Given the description of an element on the screen output the (x, y) to click on. 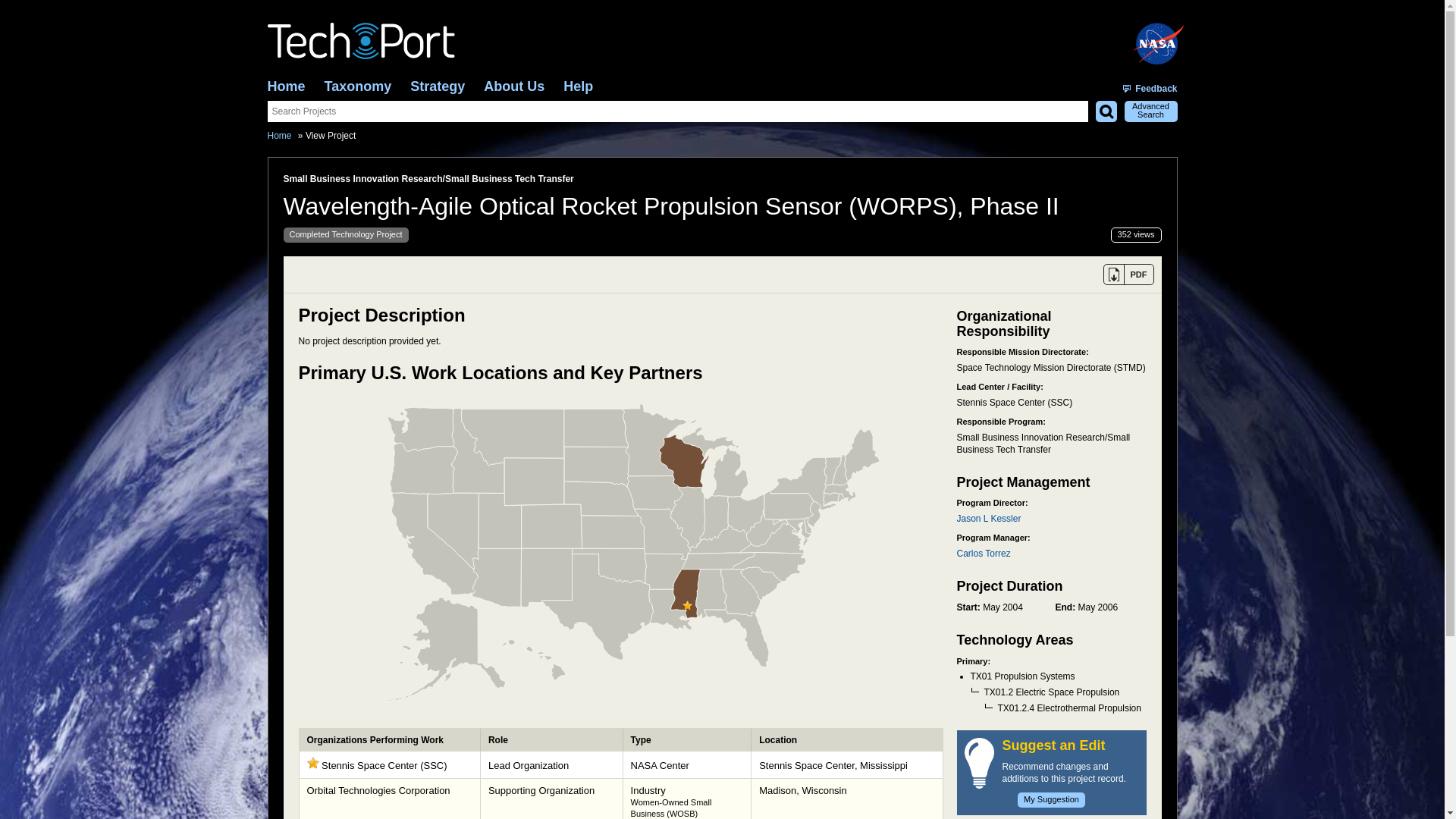
Jason L Kessler (989, 518)
About Us (513, 86)
Help (577, 86)
About Us (513, 86)
Get help using the TechPort system (577, 86)
PDF (1127, 274)
My Suggestion (1050, 799)
Home (278, 135)
Browse the NASA Technology Taxonomy (357, 86)
Advanced Search (1150, 111)
Strategy (437, 86)
Carlos Torrez (983, 552)
Home (285, 86)
Taxonomy (357, 86)
